Given the description of an element on the screen output the (x, y) to click on. 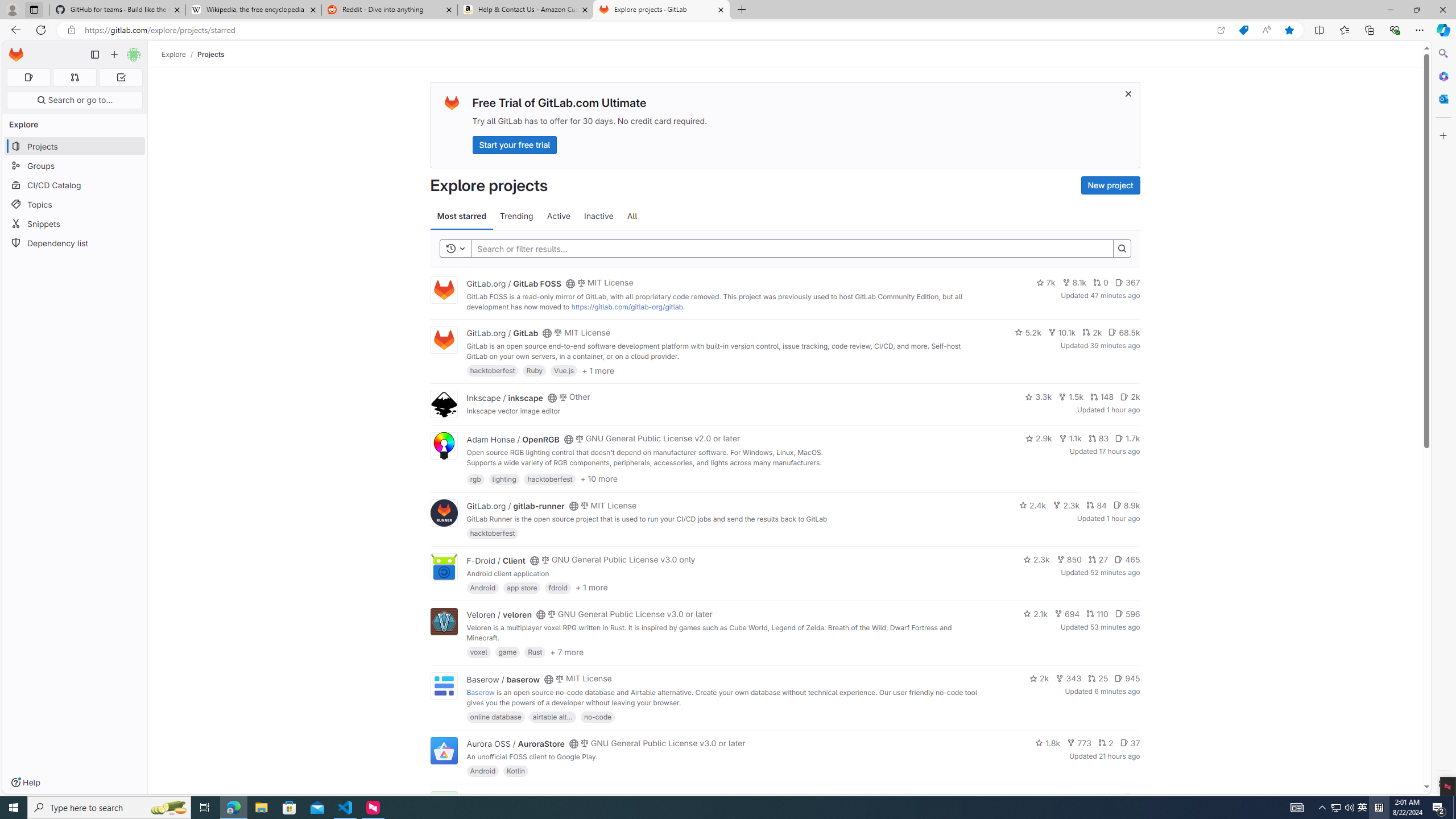
1.5k (1070, 396)
Android (482, 770)
no-code (597, 715)
27 (1097, 559)
694 (1067, 613)
8.9k (1126, 504)
Assigned issues 0 (28, 76)
Wikipedia, the free encyclopedia (253, 9)
Ruby (533, 370)
Trending (516, 216)
